Given the description of an element on the screen output the (x, y) to click on. 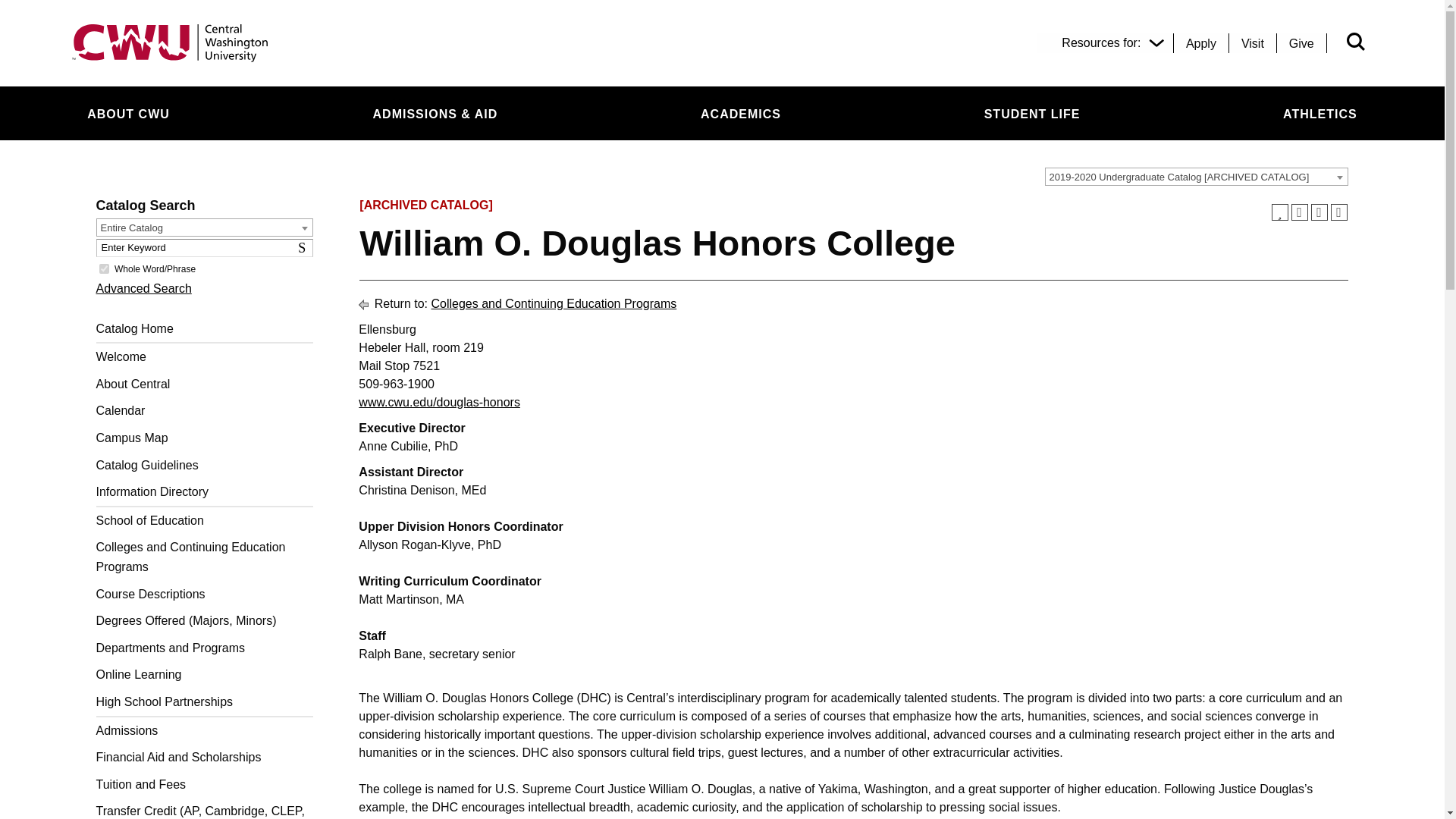
Enter Keyword   (204, 248)
Exact Match (103, 268)
ABOUT CWU (127, 113)
Resources for: (1108, 43)
Visit (1251, 43)
Entire Catalog (205, 228)
Select a Catalog (1196, 176)
ACADEMICS (740, 113)
Apply (1201, 43)
Choose Search Location (204, 227)
1 (103, 268)
Search (305, 247)
Search Keyword Field, required (204, 248)
